Given the description of an element on the screen output the (x, y) to click on. 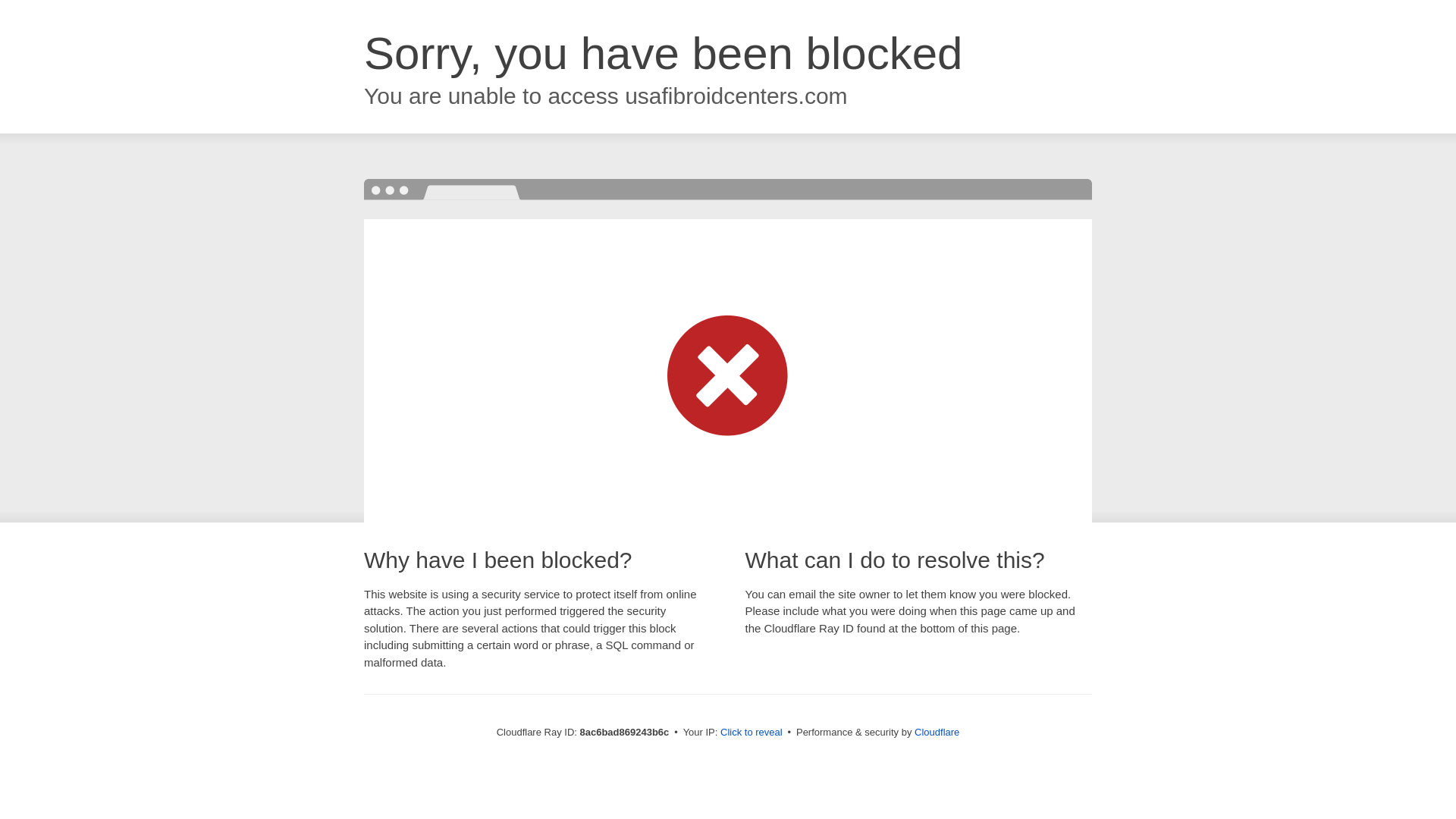
Click to reveal (751, 732)
Cloudflare (936, 731)
